Given the description of an element on the screen output the (x, y) to click on. 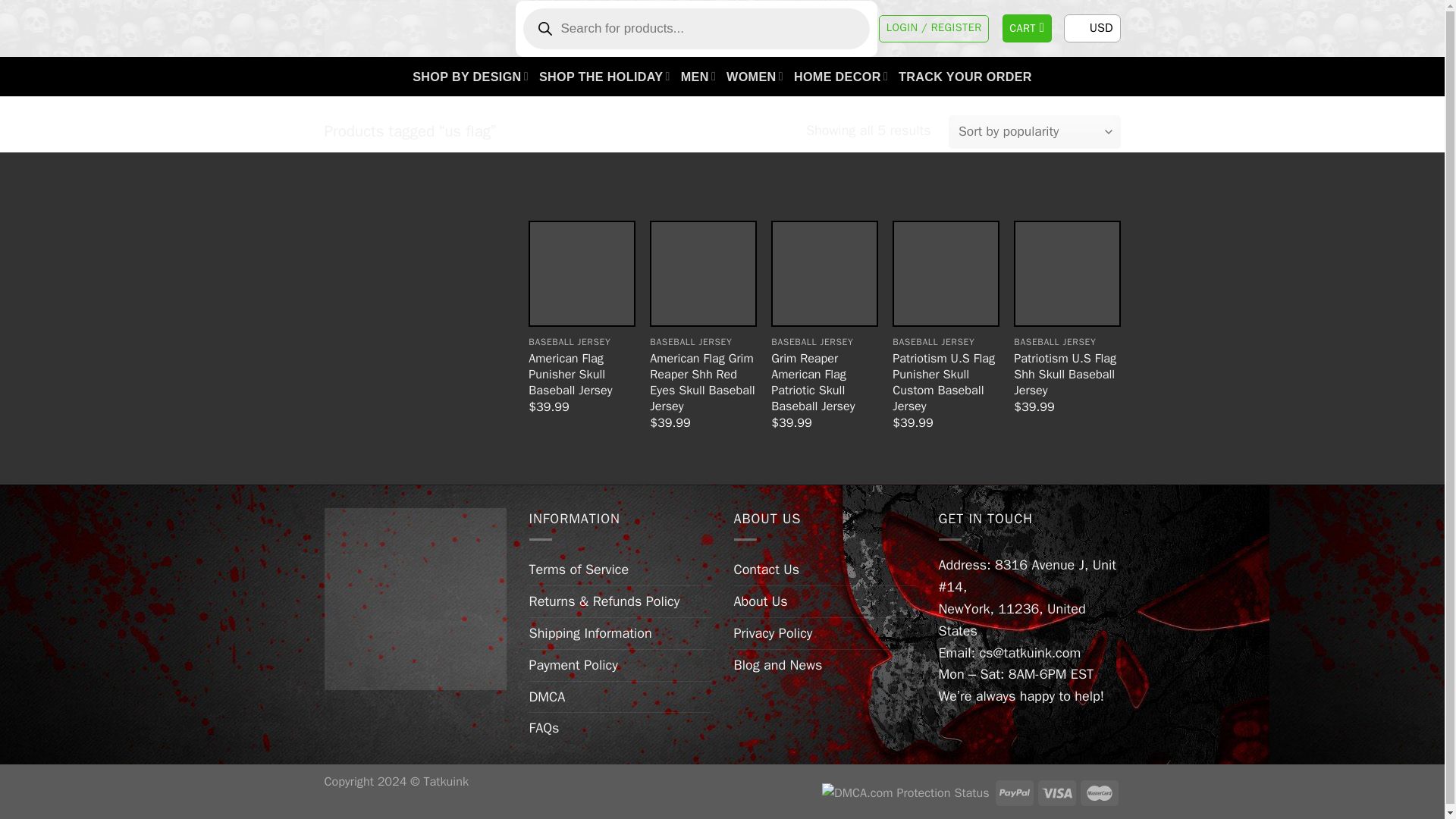
American Flag Punisher Skull Baseball Jersey (581, 273)
HOME DECOR (840, 76)
American Flag Grim Reaper Shh Red Eyes Skull Baseball Jersey (702, 273)
Patriotism U.S Flag Shh Skull Baseball Jersey (415, 598)
TRACK YOUR ORDER (965, 76)
Grim Reaper American Flag Patriotic Skull Baseball Jersey (824, 273)
Patriotism U.S Flag Punisher Skull Custom Baseball Jersey (945, 273)
SHOP THE HOLIDAY (603, 76)
DMCA.com Protection Status (906, 791)
American Flag Punisher Skull Baseball Jersey (581, 374)
